Given the description of an element on the screen output the (x, y) to click on. 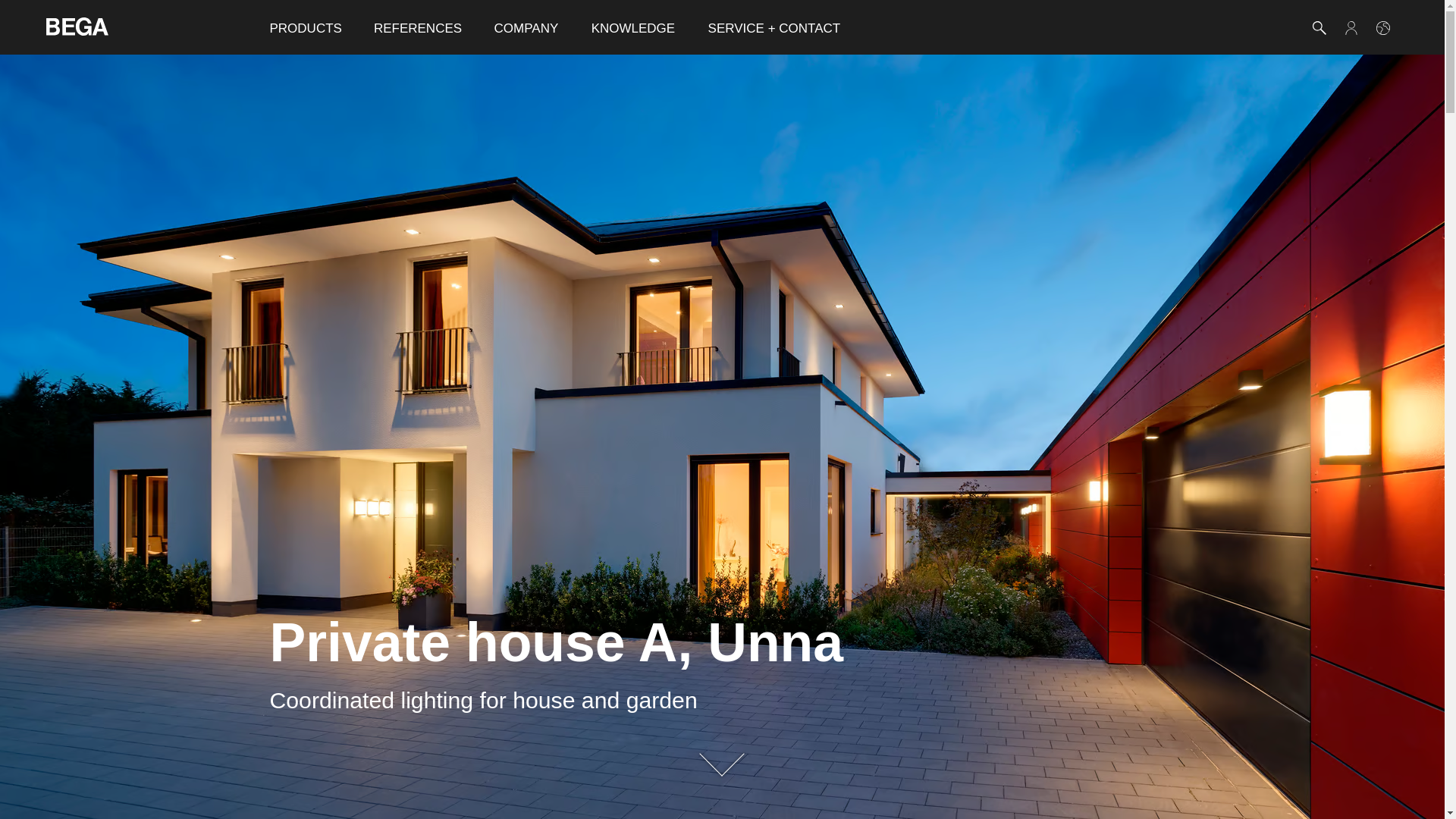
KNOWLEDGE (633, 27)
PRODUCTS (304, 27)
REFERENCES (417, 27)
COMPANY (526, 27)
Knowledge (633, 27)
Products (304, 27)
Company (526, 27)
References (417, 27)
